Given the description of an element on the screen output the (x, y) to click on. 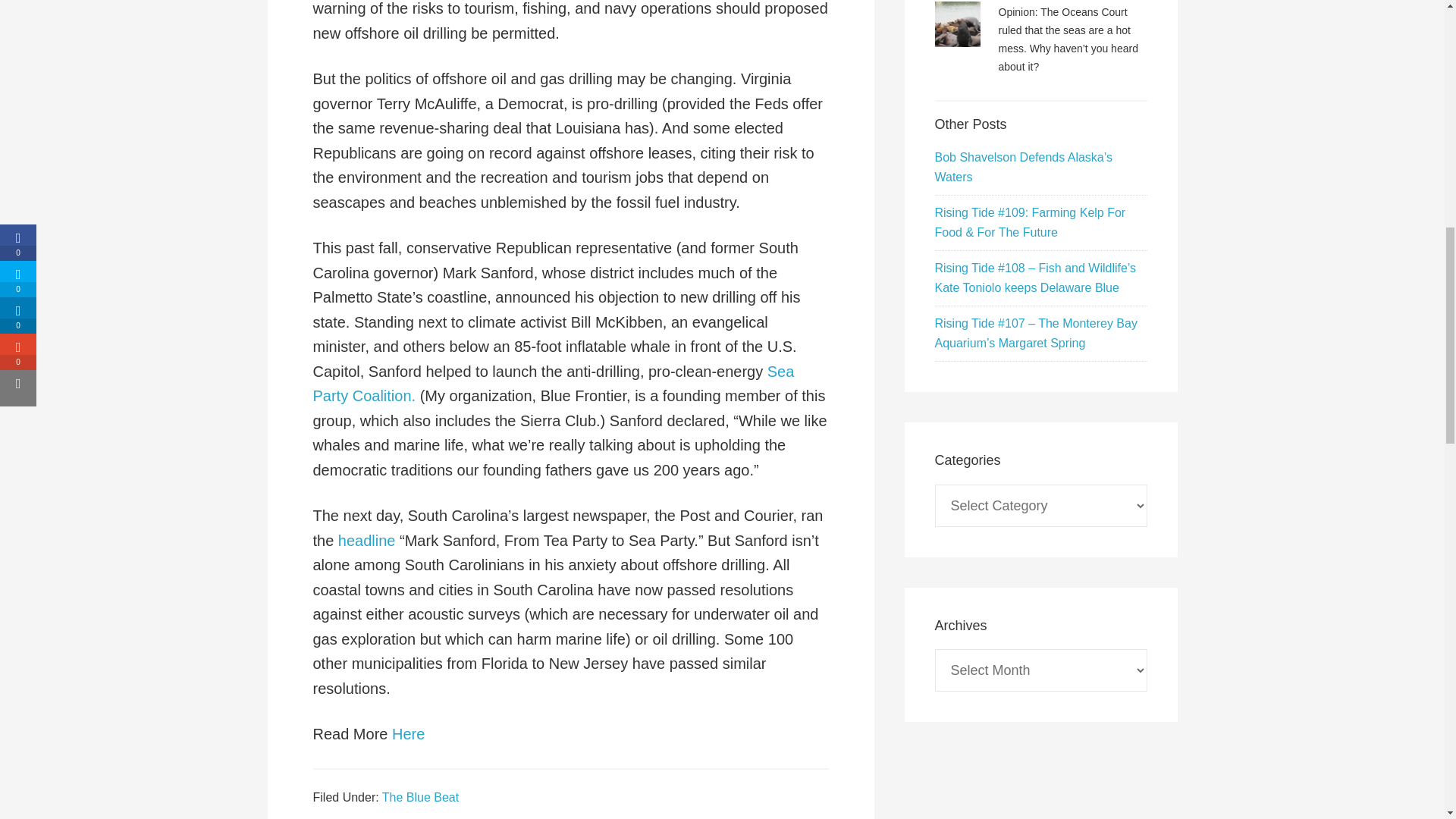
Sea Party Coalition (553, 383)
From Tea Party to Sea Party (366, 540)
